Given the description of an element on the screen output the (x, y) to click on. 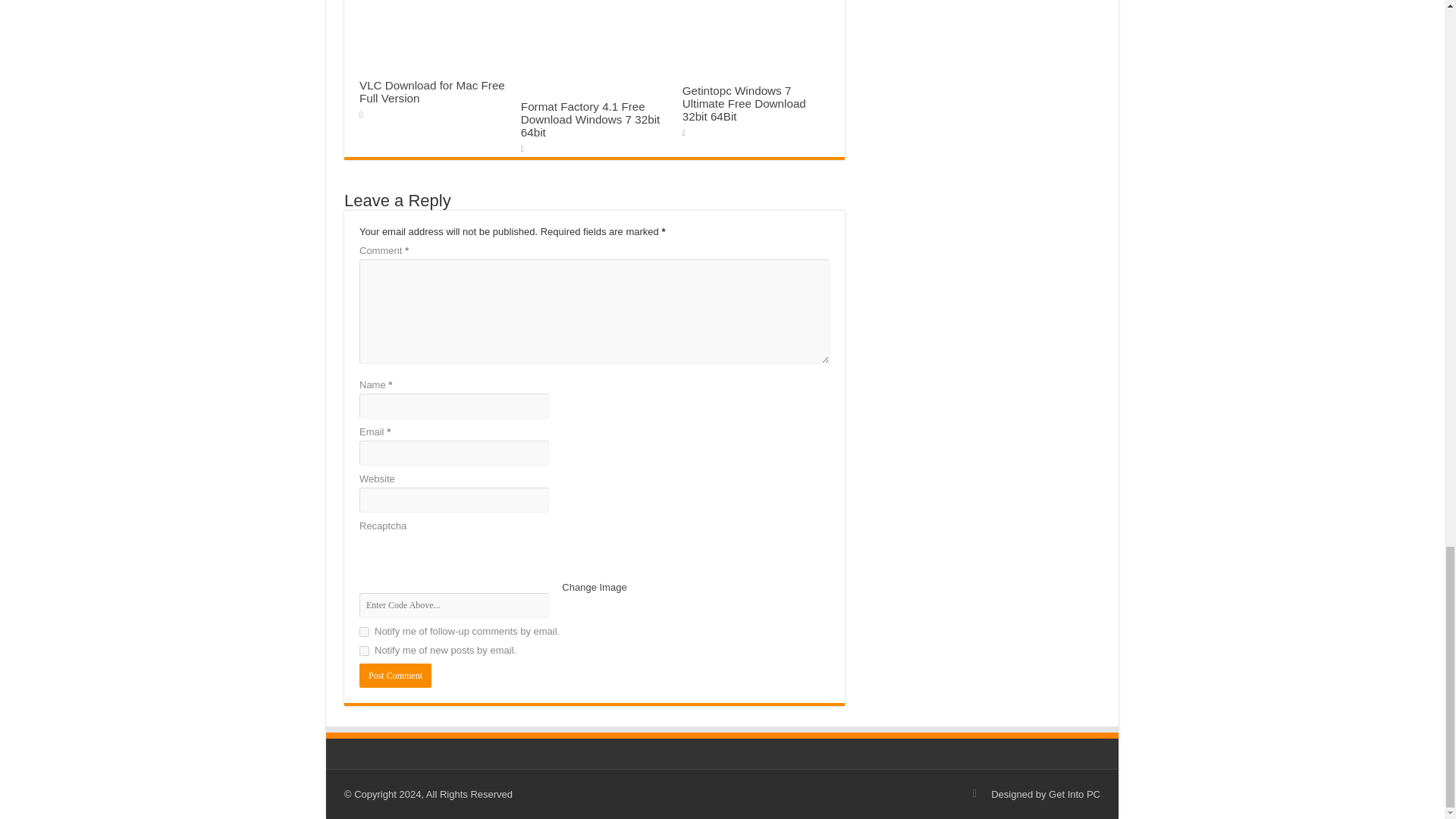
subscribe (364, 651)
subscribe (364, 632)
Post Comment (394, 675)
